Given the description of an element on the screen output the (x, y) to click on. 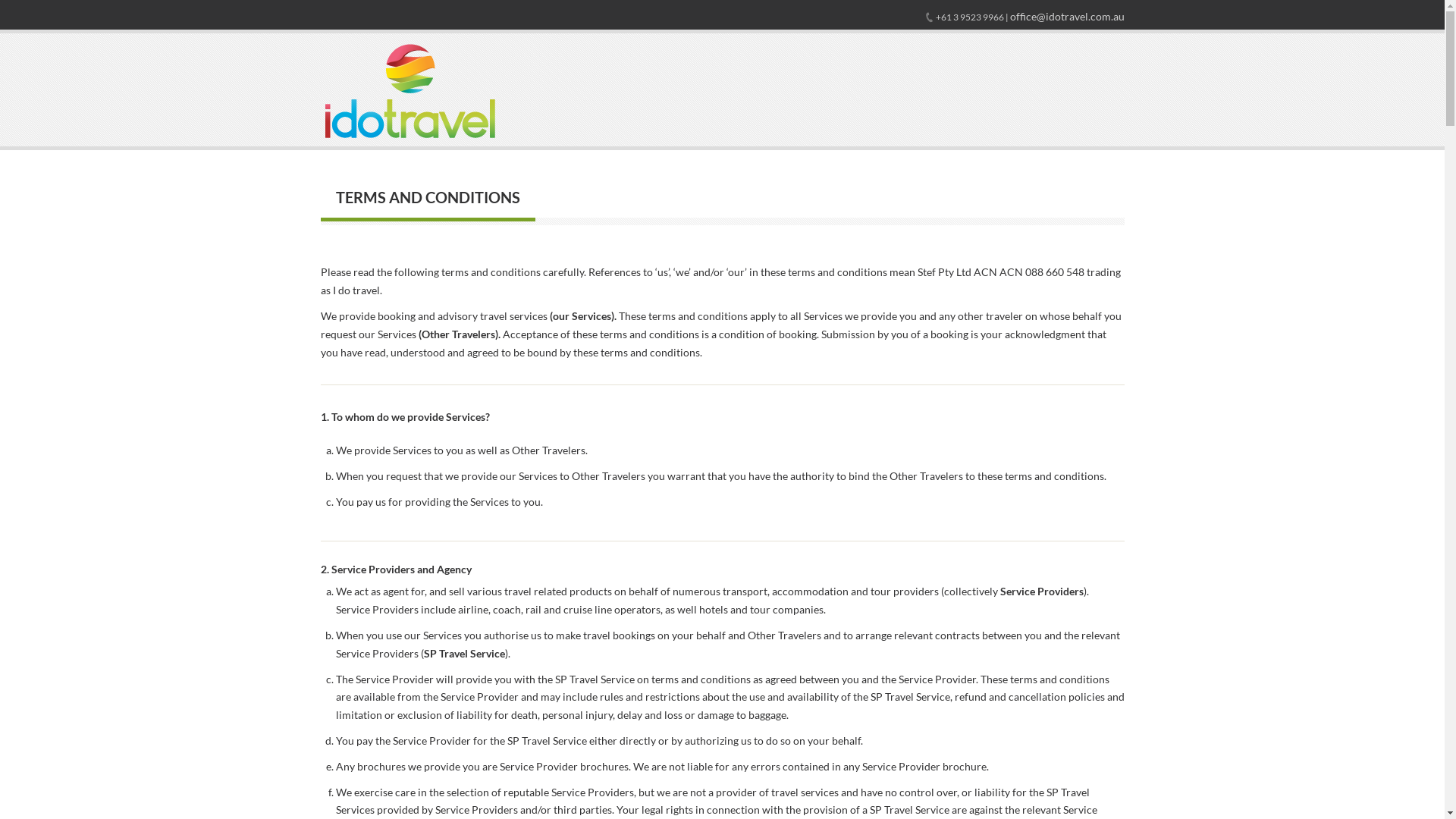
office@idotravel.com.au Element type: text (1067, 15)
